Given the description of an element on the screen output the (x, y) to click on. 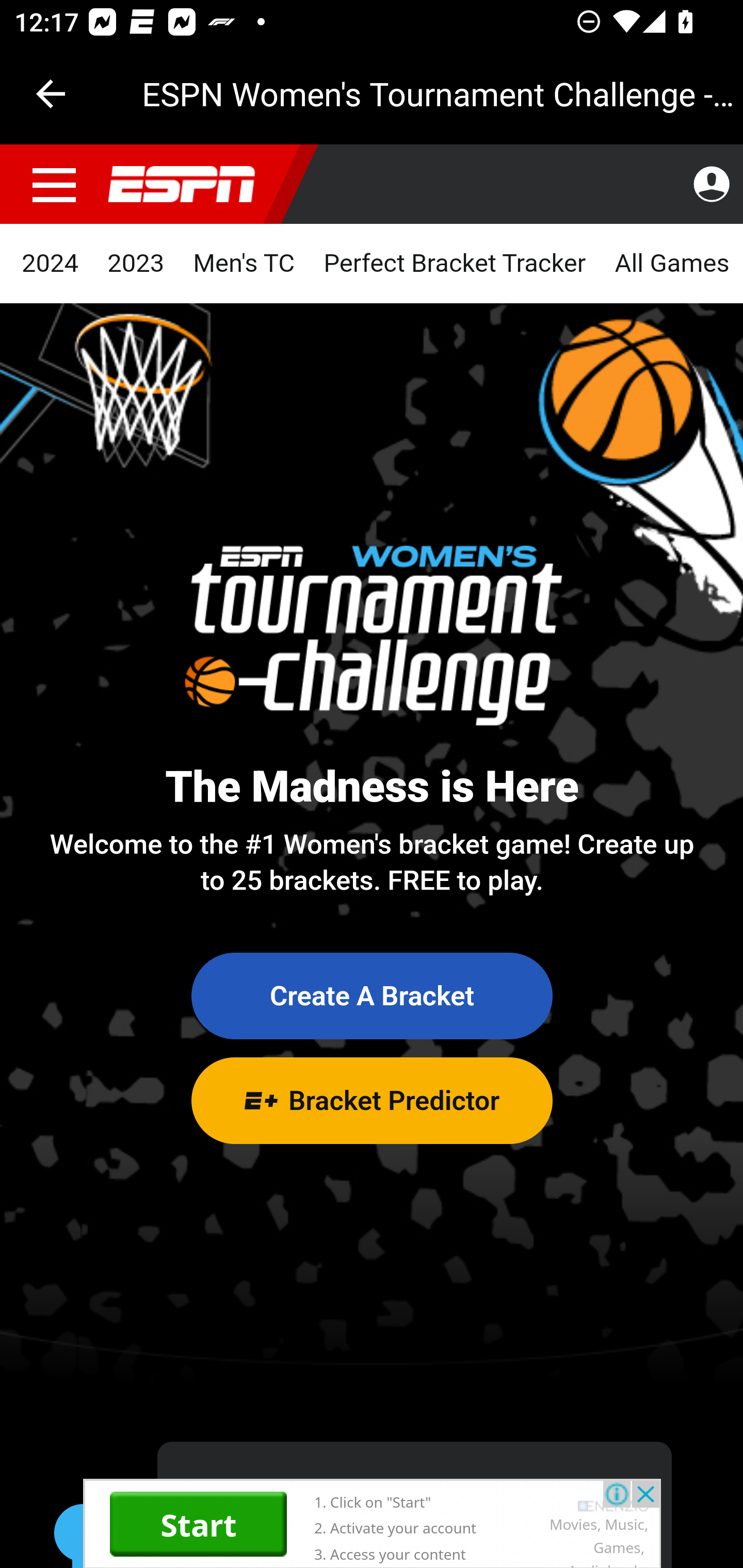
Navigate up (50, 93)
Menu (54, 184)
nav.arialabel.homepage (182, 184)
Profile Management (711, 184)
2024 (50, 264)
2023 (136, 264)
Men's TC (243, 264)
Perfect Bracket Tracker (454, 264)
All Games (671, 264)
Create A Bracket (371, 996)
Bracket Predictor (371, 1099)
